Given the description of an element on the screen output the (x, y) to click on. 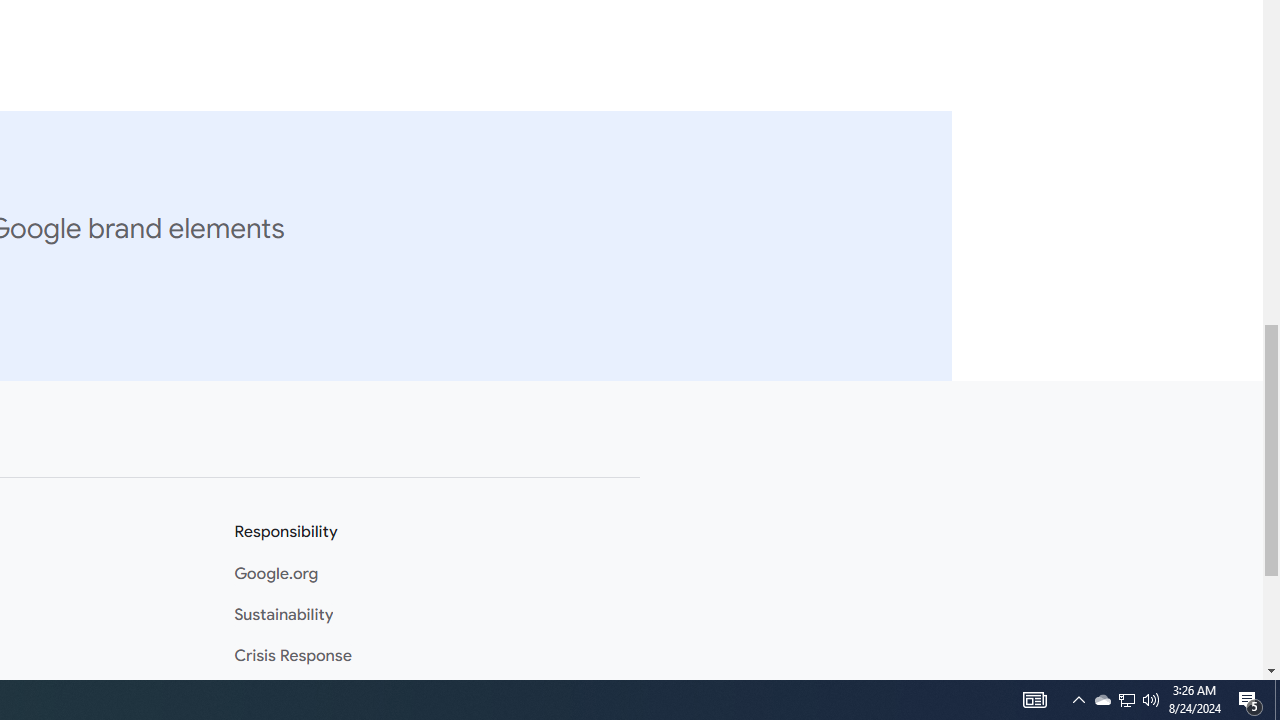
Crisis Response (293, 655)
Sustainability (284, 615)
Google.org (276, 574)
